Given the description of an element on the screen output the (x, y) to click on. 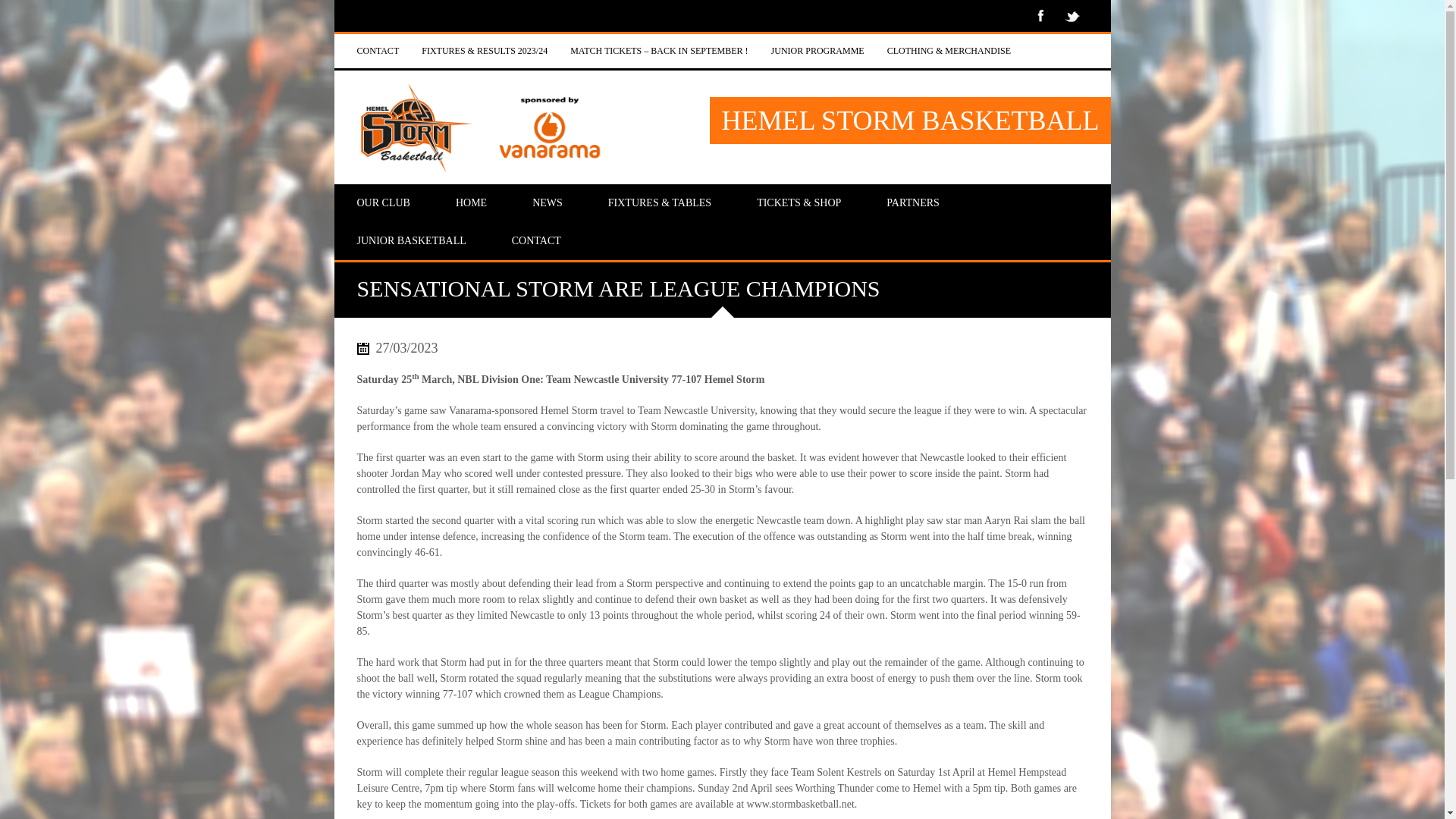
HOME (470, 202)
PARTNERS (911, 202)
CONTACT (378, 50)
OUR CLUB (382, 202)
NEWS (547, 202)
JUNIOR PROGRAMME (818, 50)
